Given the description of an element on the screen output the (x, y) to click on. 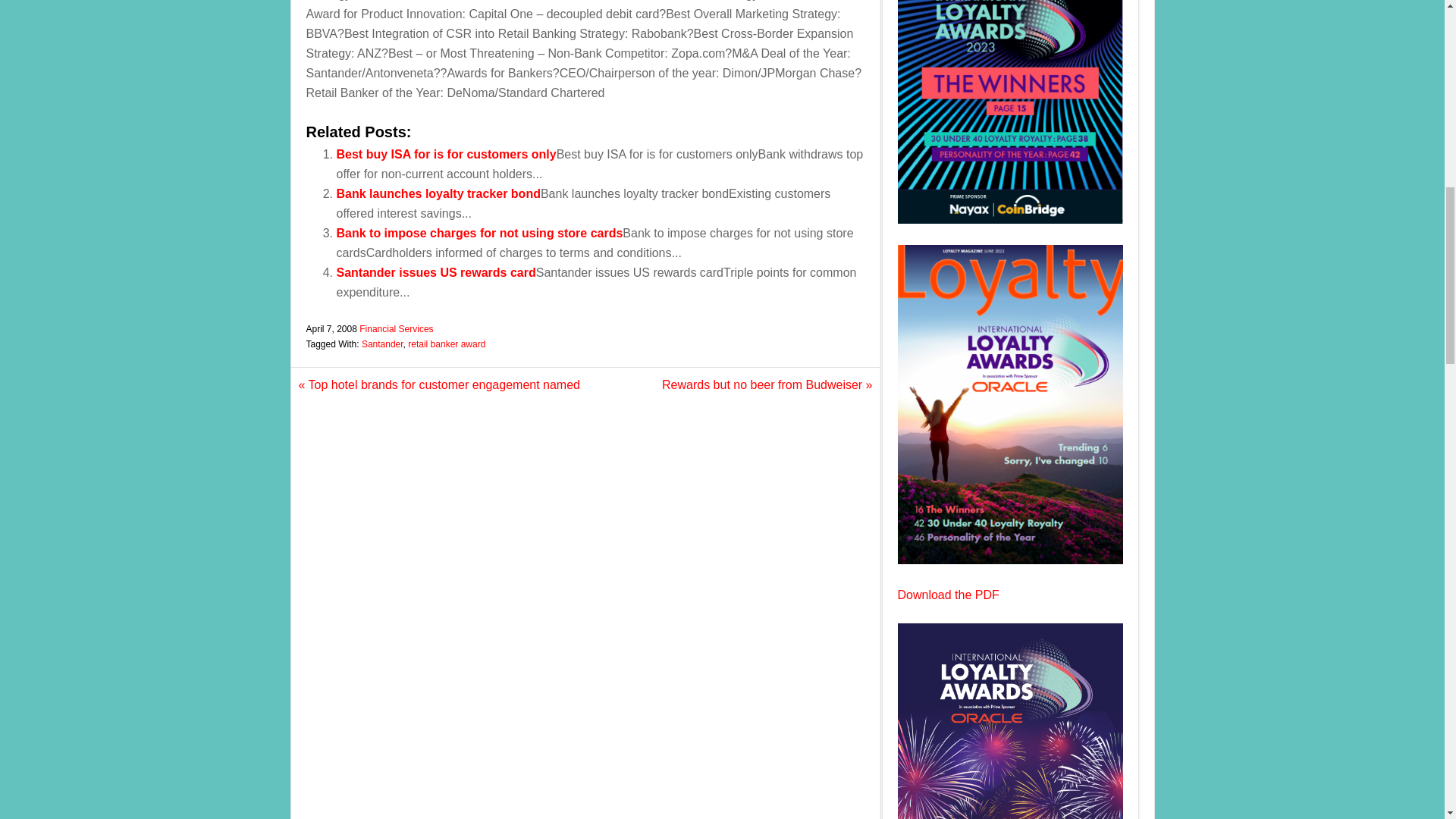
Bank launches loyalty tracker bond (438, 193)
Bank to impose charges for not using store cards (479, 232)
Best buy ISA for is for customers only (446, 154)
Santander issues US rewards card (435, 272)
